Given the description of an element on the screen output the (x, y) to click on. 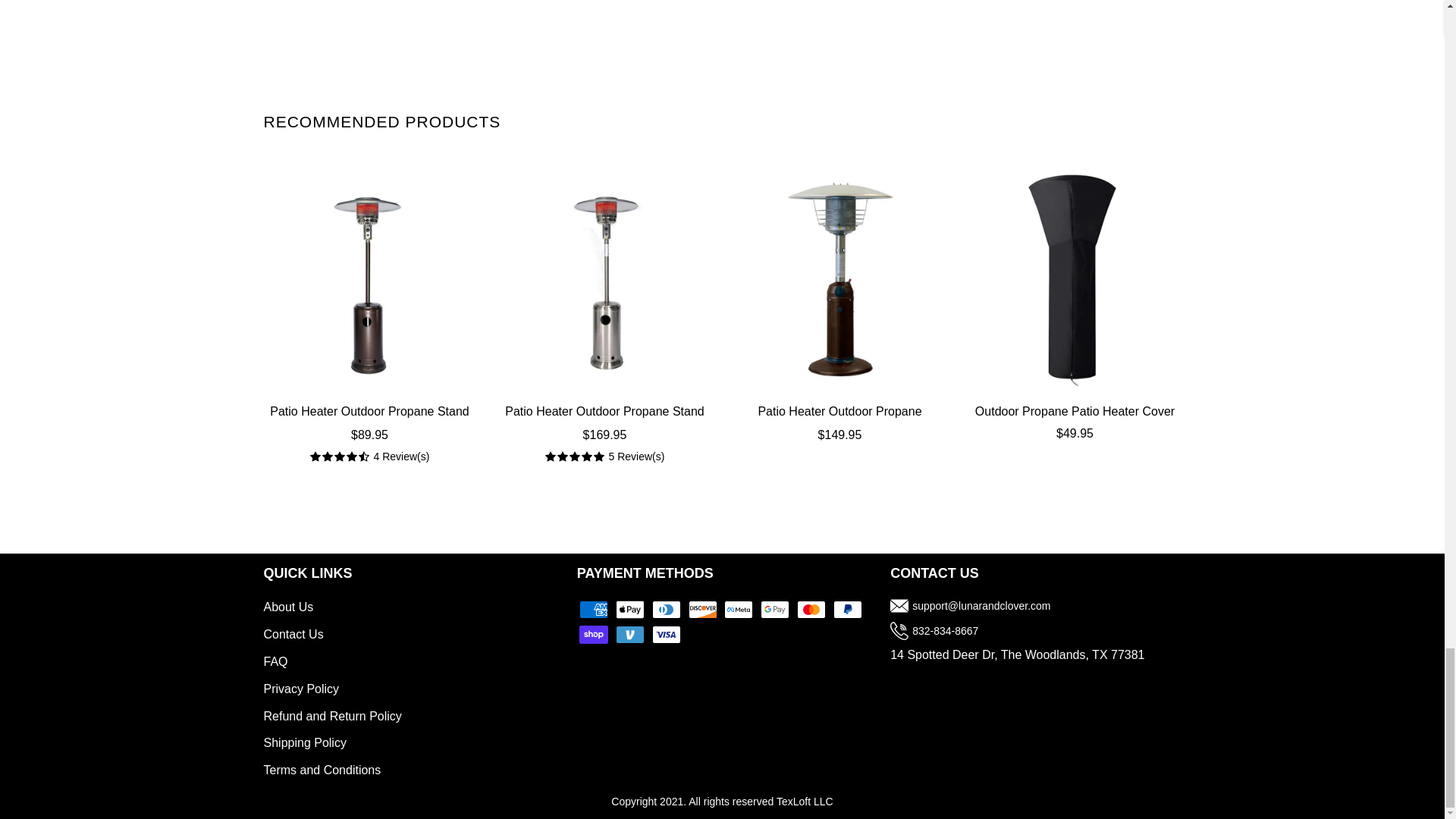
Contact Us (293, 634)
Patio Heater Outdoor Propane Stand Up Heater 48000 BTU (605, 279)
About Us (288, 606)
Patio Heater Outdoor Propane Stand Up Heater (369, 279)
FAQ (275, 661)
FAQ (275, 661)
Outdoor Propane Patio Heater Cover (1074, 279)
Patio Heater Outdoor Propane Tabletop Heater (839, 423)
Contact Us (293, 634)
Patio Heater Outdoor Propane Stand Up Heater (369, 423)
Outdoor Propane Patio Heater Cover (1074, 412)
Product reviews widget (721, 28)
About Us (288, 606)
Patio Heater Outdoor Propane Stand Up Heater 48000 BTU (605, 423)
Patio Heater Outdoor Propane Tabletop Heater (839, 279)
